Given the description of an element on the screen output the (x, y) to click on. 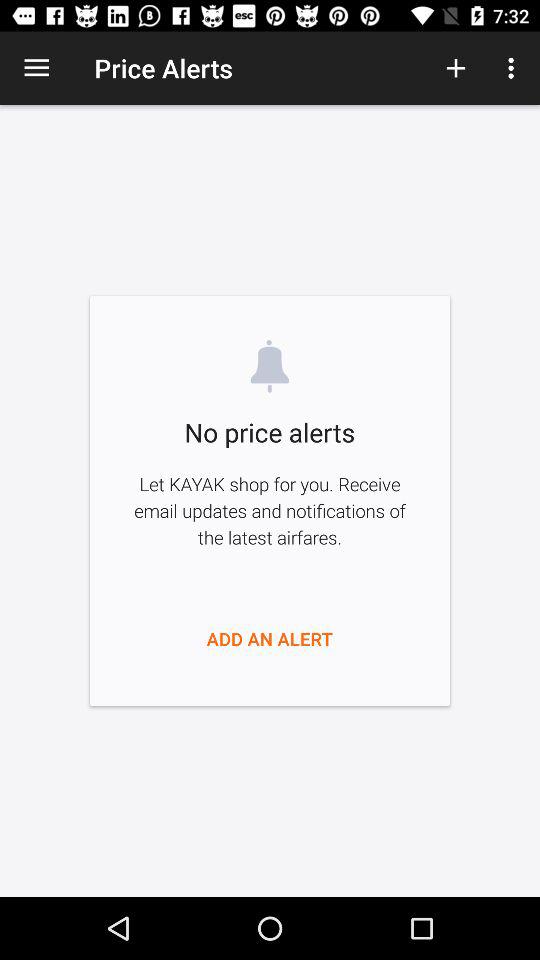
click the item to the left of price alerts icon (36, 68)
